Given the description of an element on the screen output the (x, y) to click on. 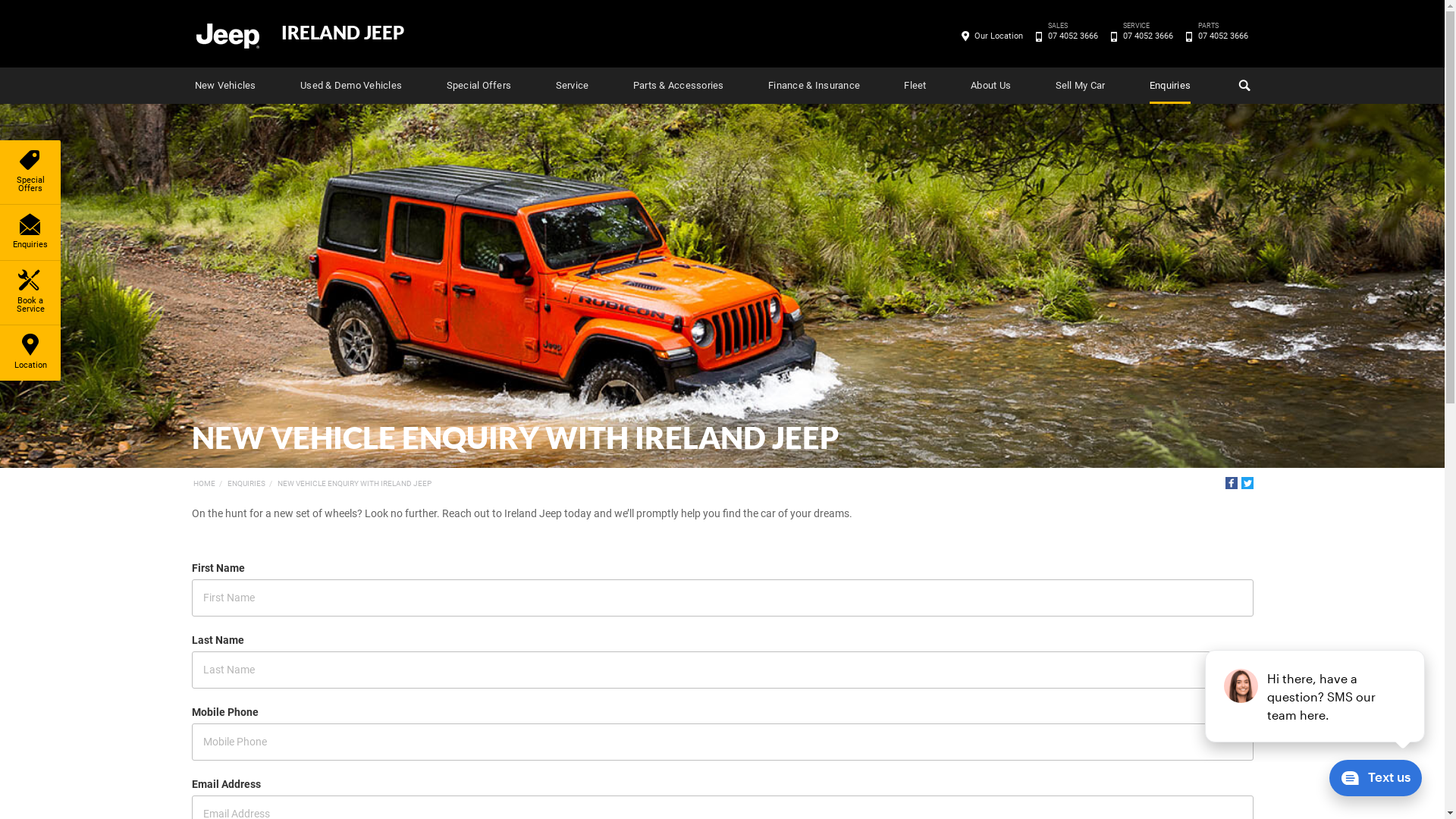
SALES
07 4052 3666 Element type: text (1071, 35)
Our Location Element type: text (998, 35)
Facebook Element type: hover (1231, 482)
Sell My Car Element type: text (1080, 85)
About Us Element type: text (990, 85)
Book a Service Element type: text (30, 292)
Special Offers Element type: text (30, 171)
Special Offers Element type: text (478, 85)
Parts & Accessories Element type: text (678, 85)
Service Element type: text (572, 85)
New Vehicles Element type: text (224, 85)
HOME Element type: text (203, 483)
Used & Demo Vehicles Element type: text (350, 85)
Location Element type: text (30, 352)
Enquiries Element type: text (1169, 85)
ENQUIRIES Element type: text (246, 483)
SERVICE
07 4052 3666 Element type: text (1147, 35)
podium webchat widget prompt Element type: hover (1315, 696)
NEW VEHICLE ENQUIRY WITH IRELAND JEEP Element type: text (354, 483)
Fleet Element type: text (914, 85)
Twitter Element type: hover (1246, 482)
IRELAND JEEP Element type: text (341, 32)
Enquiries Element type: text (30, 232)
Finance & Insurance Element type: text (813, 85)
Ireland Jeep Element type: hover (226, 34)
PARTS
07 4052 3666 Element type: text (1222, 35)
Search Element type: text (1242, 85)
